Given the description of an element on the screen output the (x, y) to click on. 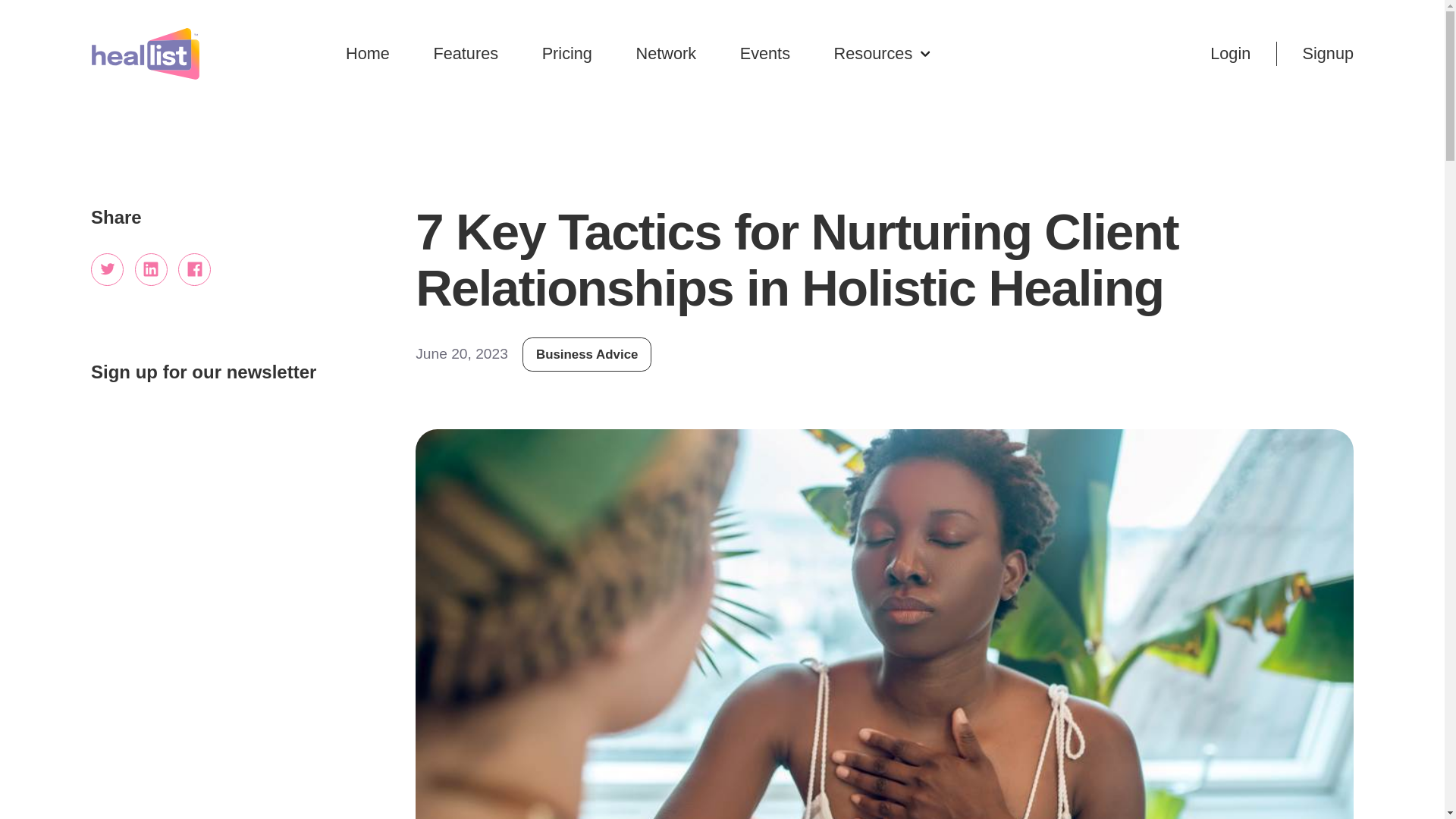
Form 0 (234, 474)
Events (764, 53)
Pricing (566, 53)
Features (464, 53)
Login (1229, 53)
Signup (1327, 53)
Network (666, 53)
Home (368, 53)
